Given the description of an element on the screen output the (x, y) to click on. 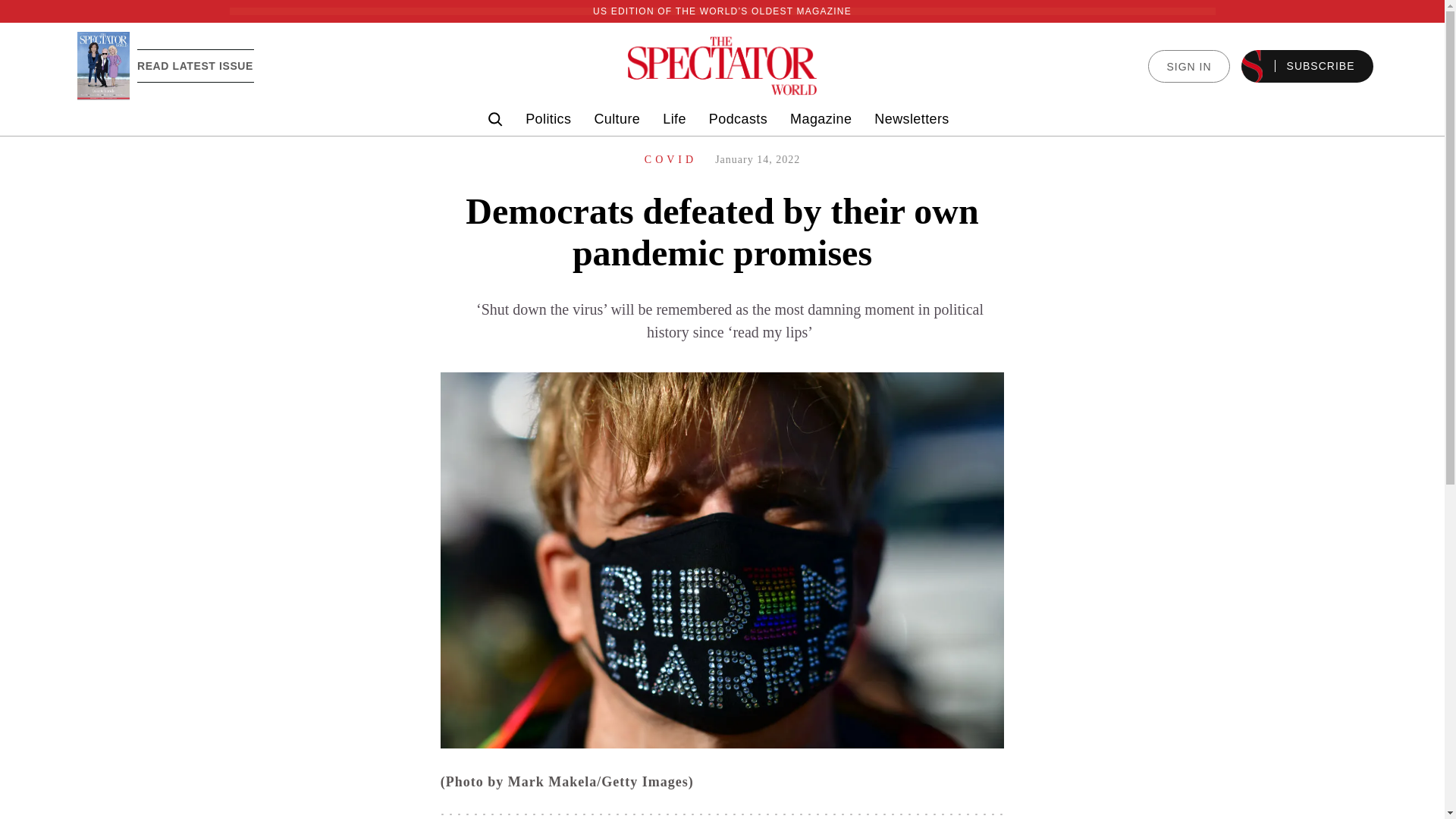
COVID (671, 159)
Podcasts (737, 119)
Newsletters (911, 119)
Life (673, 119)
Politics (547, 119)
Culture (616, 119)
READ LATEST ISSUE (194, 65)
Magazine (820, 119)
SIGN IN (1188, 65)
SUBSCRIBE (1307, 65)
